Given the description of an element on the screen output the (x, y) to click on. 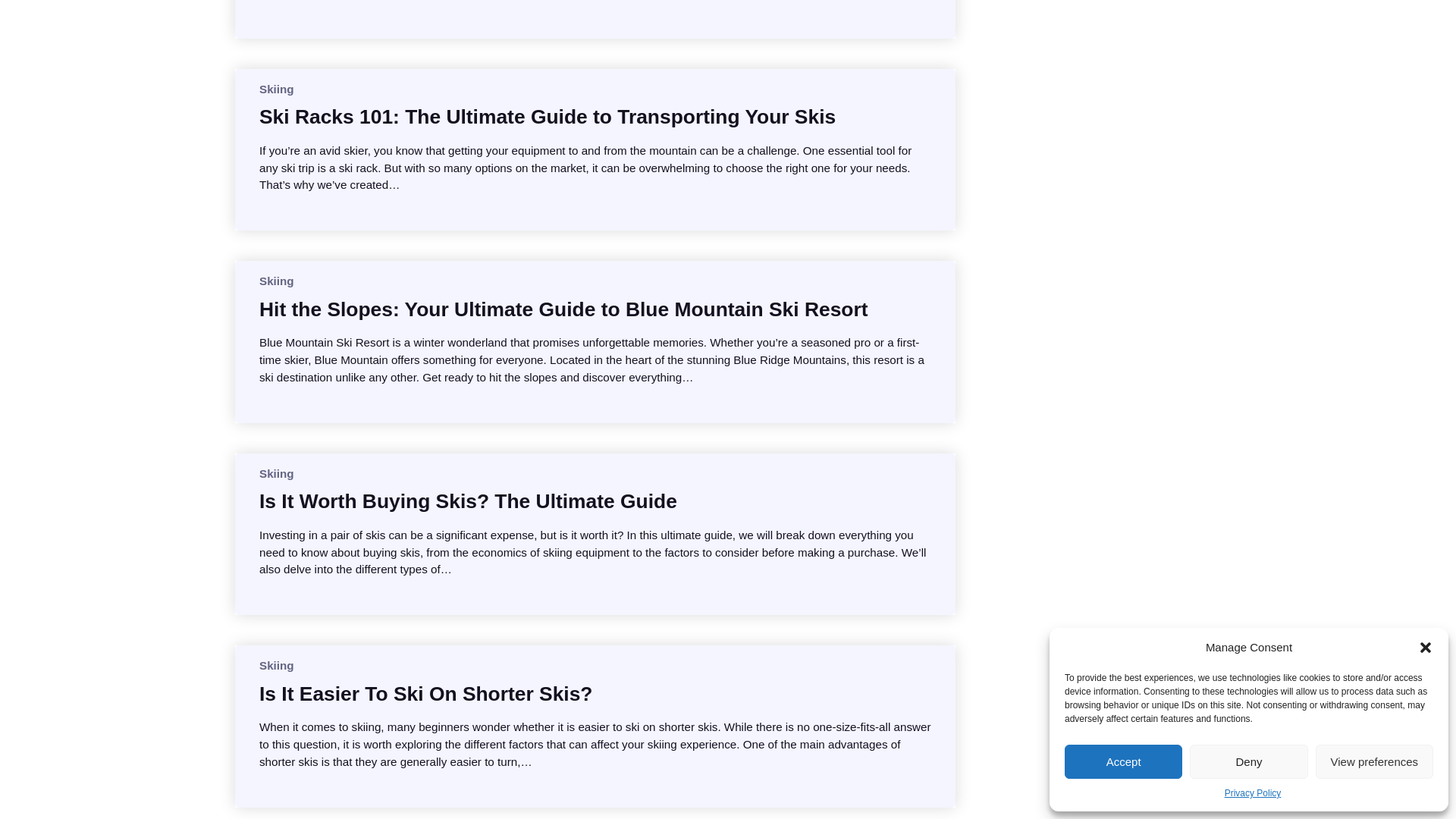
Is It Easier To Ski On Shorter Skis? (425, 693)
Ski Racks 101: The Ultimate Guide to Transporting Your Skis (547, 116)
Skiing (276, 280)
Skiing (276, 88)
Skiing (276, 472)
Is It Worth Buying Skis? The Ultimate Guide (468, 501)
Skiing (276, 665)
